Given the description of an element on the screen output the (x, y) to click on. 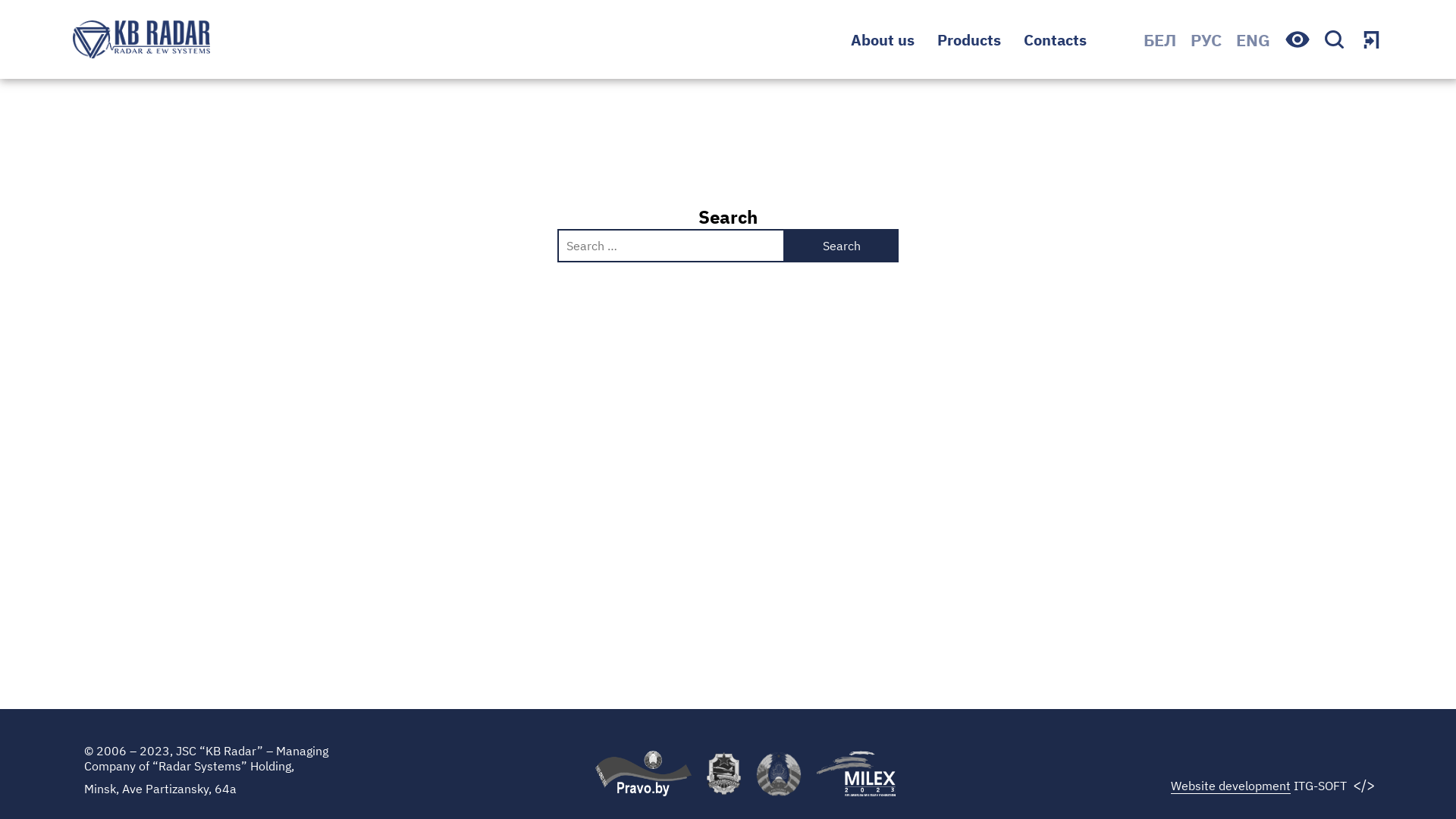
Website development Element type: text (1230, 785)
ENG Element type: text (1253, 39)
About us Element type: text (882, 39)
Contacts Element type: text (1055, 39)
Search Element type: text (841, 245)
Products Element type: text (969, 38)
